Given the description of an element on the screen output the (x, y) to click on. 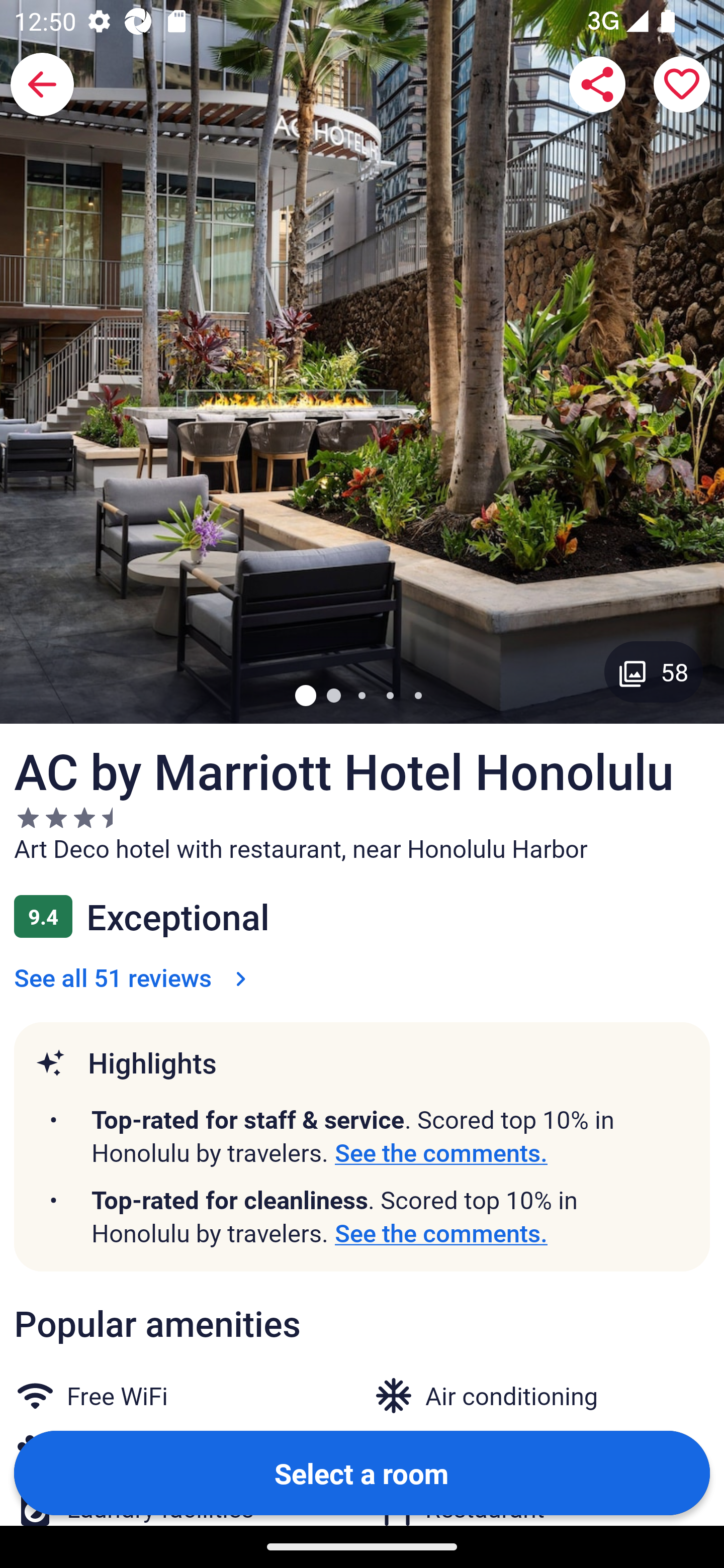
Back (42, 84)
Save property to a trip (681, 84)
Share AC by Marriott Hotel Honolulu (597, 84)
Gallery button with 58 images (653, 671)
See all 51 reviews See all 51 reviews Link (133, 976)
Select a room Button Select a room (361, 1472)
